Given the description of an element on the screen output the (x, y) to click on. 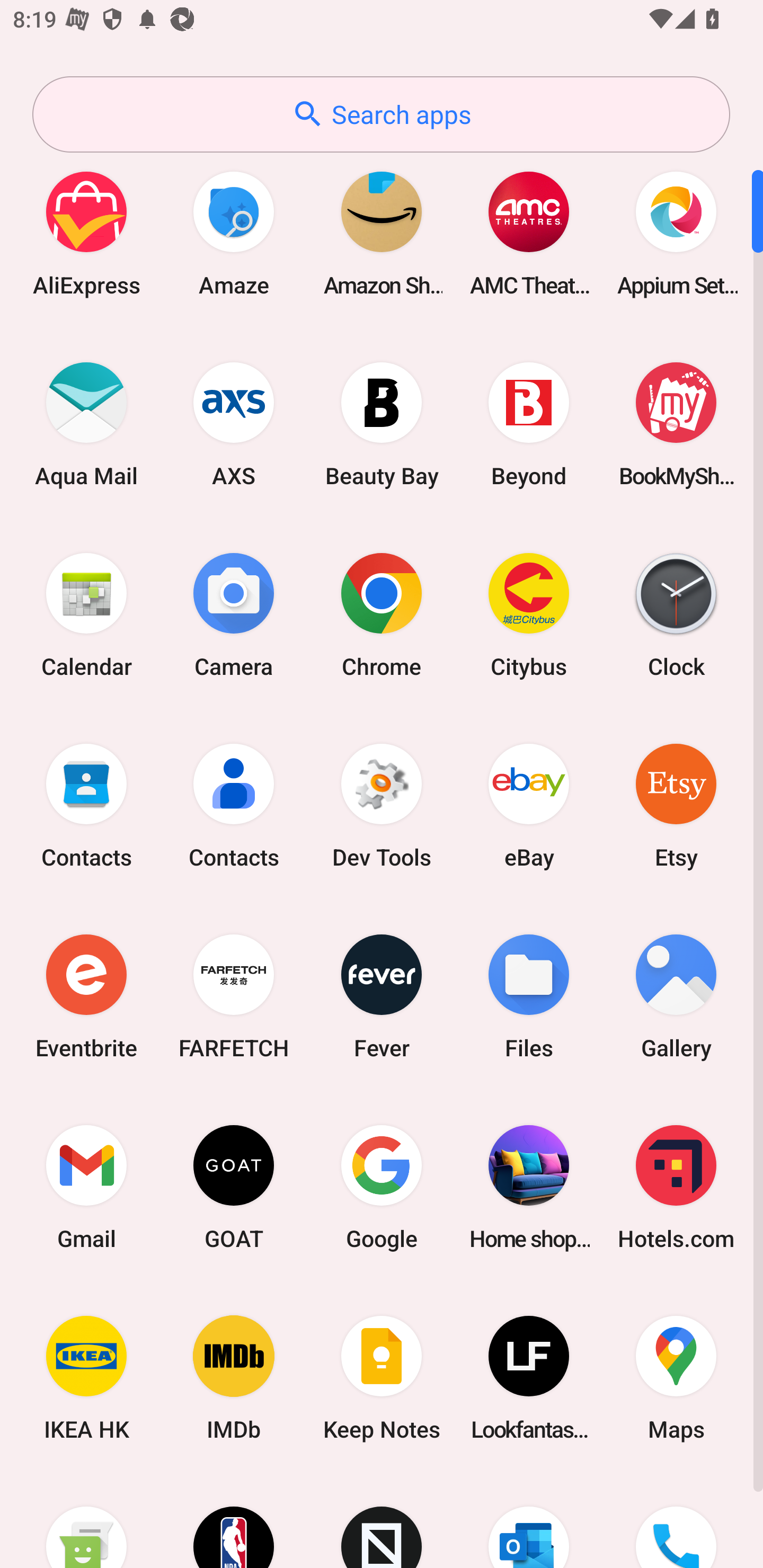
  Search apps (381, 114)
AliExpress (86, 233)
Amaze (233, 233)
Amazon Shopping (381, 233)
AMC Theatres (528, 233)
Appium Settings (676, 233)
Aqua Mail (86, 424)
AXS (233, 424)
Beauty Bay (381, 424)
Beyond (528, 424)
BookMyShow (676, 424)
Calendar (86, 614)
Camera (233, 614)
Chrome (381, 614)
Citybus (528, 614)
Clock (676, 614)
Contacts (86, 805)
Contacts (233, 805)
Dev Tools (381, 805)
eBay (528, 805)
Etsy (676, 805)
Eventbrite (86, 996)
FARFETCH (233, 996)
Fever (381, 996)
Files (528, 996)
Gallery (676, 996)
Gmail (86, 1186)
GOAT (233, 1186)
Google (381, 1186)
Home shopping (528, 1186)
Hotels.com (676, 1186)
IKEA HK (86, 1377)
IMDb (233, 1377)
Keep Notes (381, 1377)
Lookfantastic (528, 1377)
Maps (676, 1377)
